Given the description of an element on the screen output the (x, y) to click on. 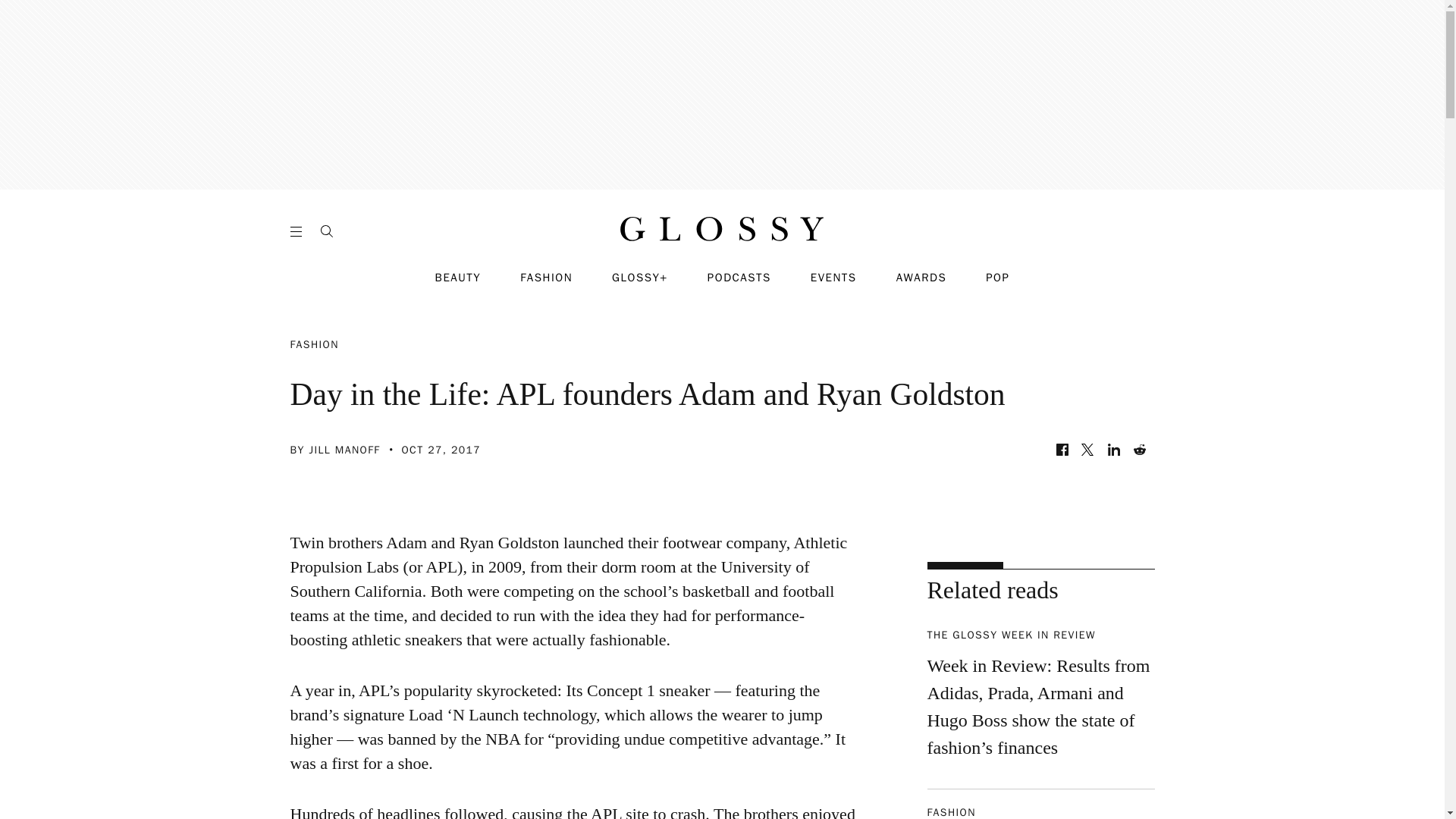
EVENTS (833, 277)
FASHION (545, 277)
PODCASTS (739, 277)
AWARDS (921, 277)
POP (997, 277)
BEAUTY (458, 277)
